Given the description of an element on the screen output the (x, y) to click on. 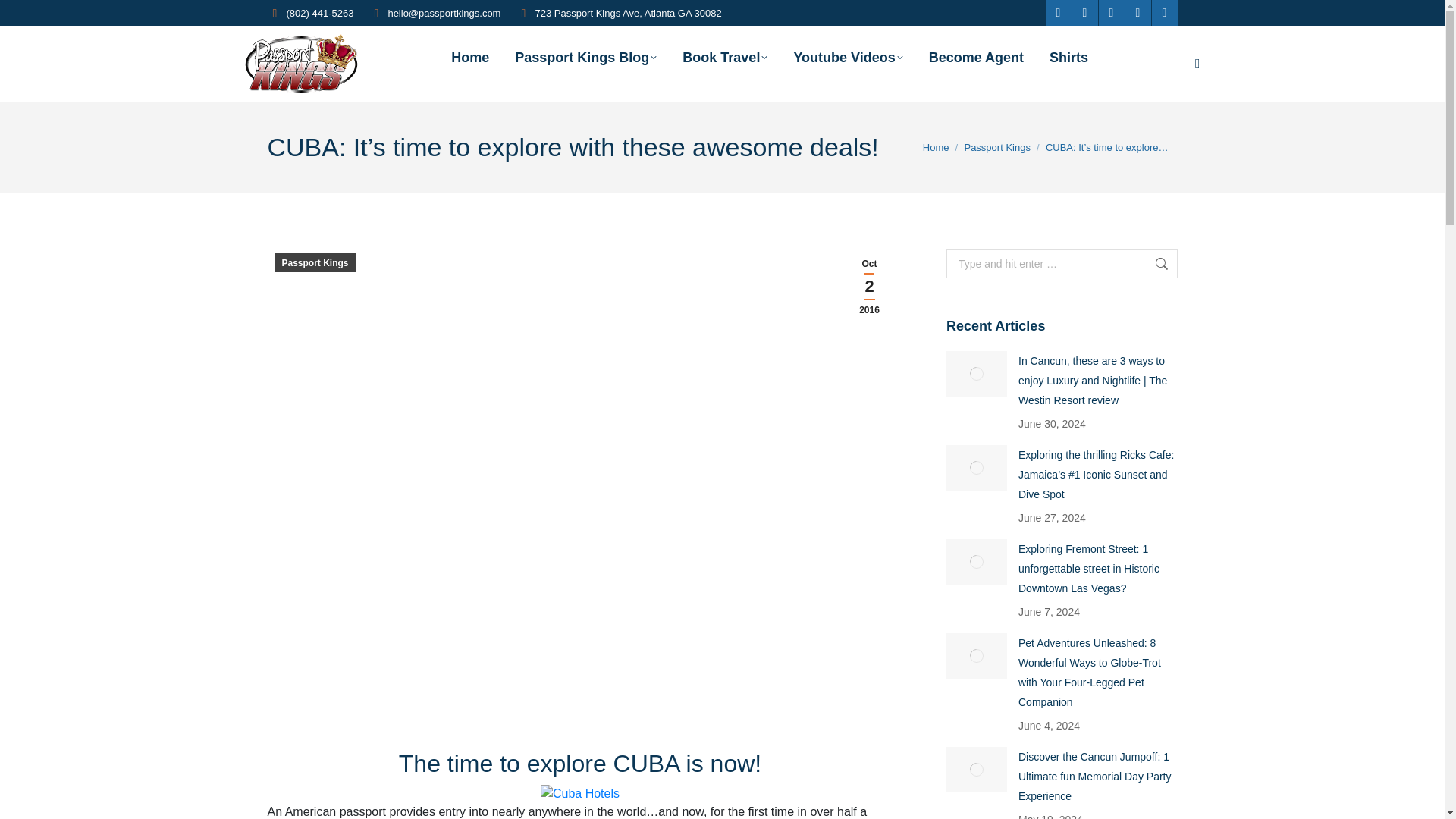
Facebook page opens in new window (1058, 12)
Facebook page opens in new window (1058, 12)
Home (936, 147)
Home (470, 57)
Go! (24, 15)
Go! (1153, 263)
Instagram page opens in new window (1164, 12)
X page opens in new window (1084, 12)
Become Agent (975, 57)
Pinterest page opens in new window (1111, 12)
Passport Kings (996, 147)
Instagram page opens in new window (1164, 12)
Pinterest page opens in new window (1111, 12)
YouTube page opens in new window (1138, 12)
X page opens in new window (1084, 12)
